Given the description of an element on the screen output the (x, y) to click on. 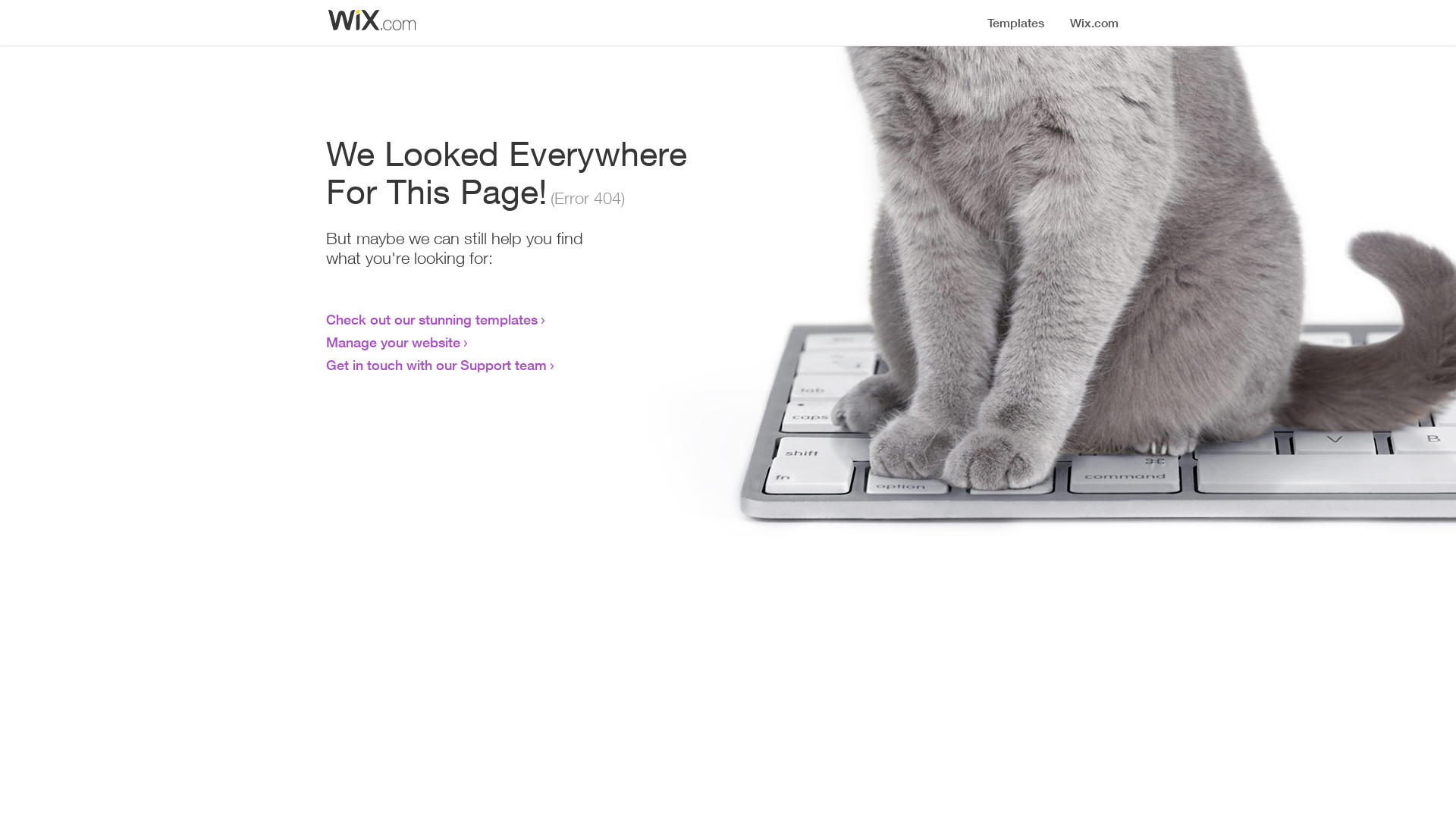
Check out our stunning templates Element type: text (431, 318)
Manage your website Element type: text (393, 341)
Get in touch with our Support team Element type: text (436, 364)
